Given the description of an element on the screen output the (x, y) to click on. 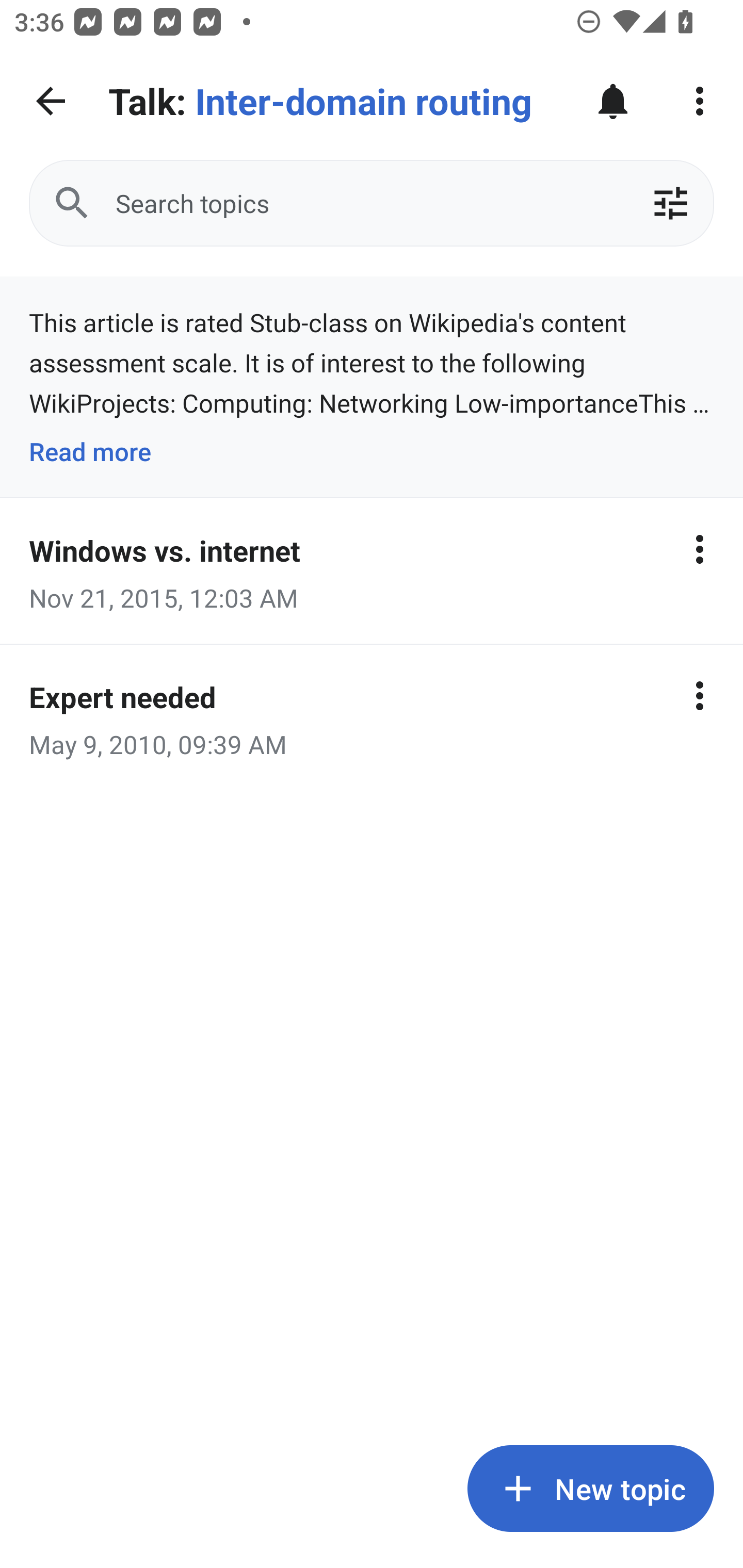
Navigate up (50, 101)
Notifications (612, 101)
More (699, 101)
Search topics Search topics Sort by (371, 202)
Sort by (670, 202)
More options (699, 549)
Expert needed May 9, 2010, 09:39 AM More options (371, 717)
More options (699, 695)
New topic (590, 1488)
